Given the description of an element on the screen output the (x, y) to click on. 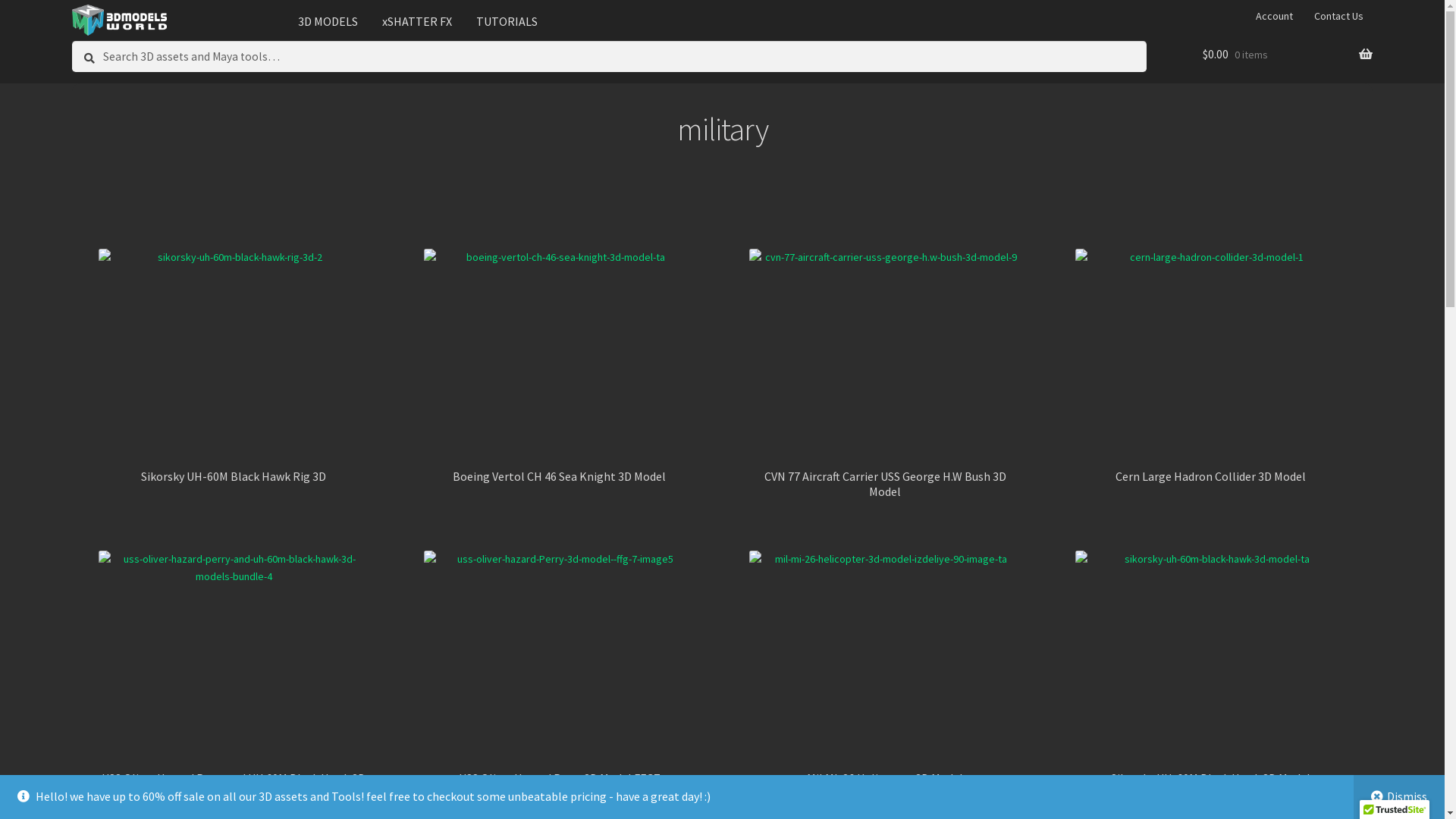
Boeing Vertol CH 46 Sea Knight 3D Model Element type: text (559, 365)
CVN 77 Aircraft Carrier USS George H.W Bush 3D Model Element type: text (884, 373)
3D MODELS Element type: text (327, 21)
Sikorsky UH-60M Black Hawk 3D Model Element type: text (1210, 667)
Search Element type: text (71, 40)
Account Element type: text (1274, 15)
TUTORIALS Element type: text (506, 21)
Mil MI-26 Helicopter 3D Model Element type: text (884, 667)
$0.00 0 items Element type: text (1287, 54)
Cern Large Hadron Collider 3D Model Element type: text (1210, 365)
Sikorsky UH-60M Black Hawk Rig 3D Element type: text (234, 365)
USS Oliver Hazard Perry 3D Model FFG7 Element type: text (559, 667)
xSHATTER FX Element type: text (417, 21)
Contact Us Element type: text (1338, 15)
